Given the description of an element on the screen output the (x, y) to click on. 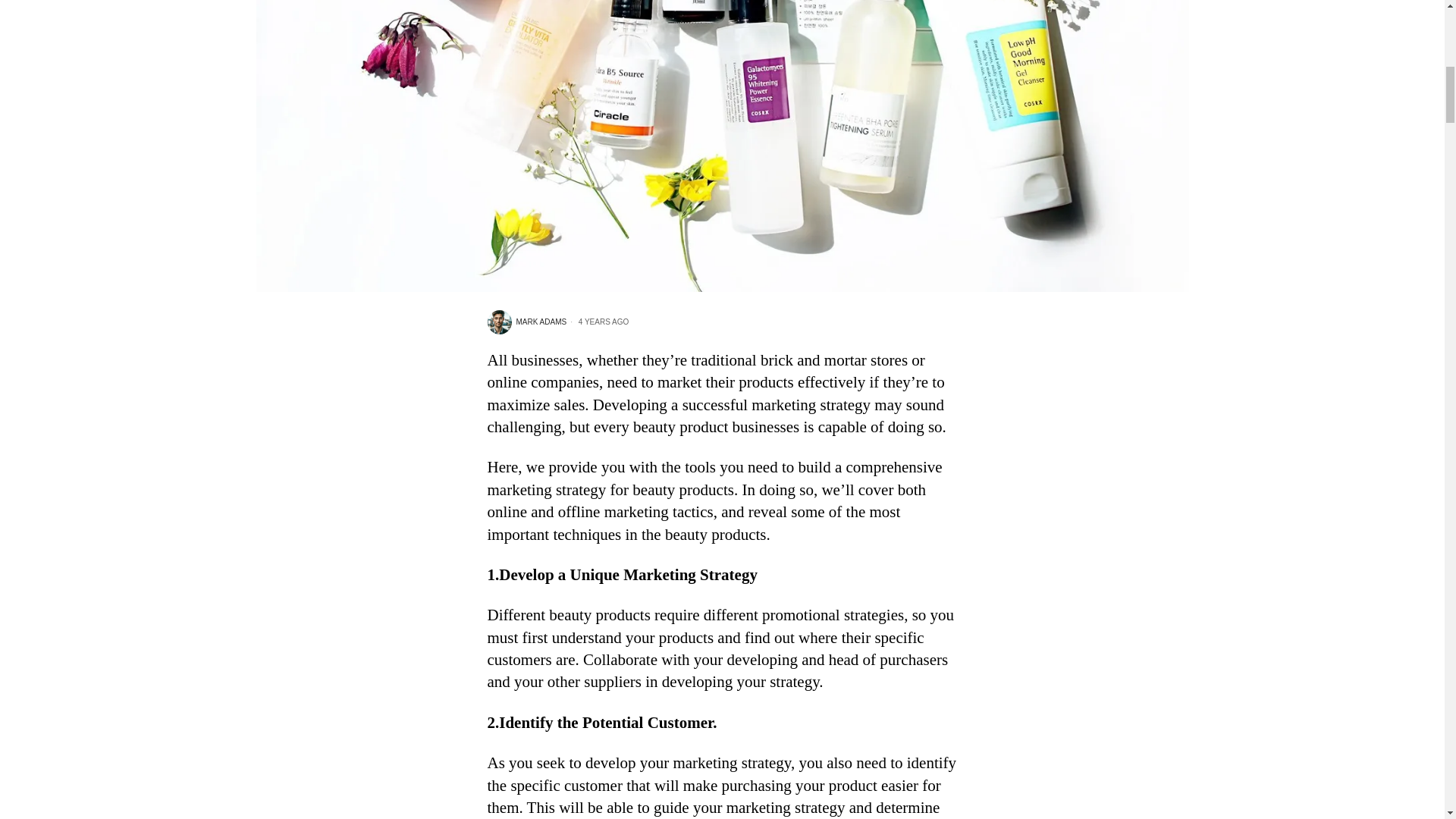
25 Oct, 2020 06:26:35 (597, 321)
MARK ADAMS (526, 322)
